Given the description of an element on the screen output the (x, y) to click on. 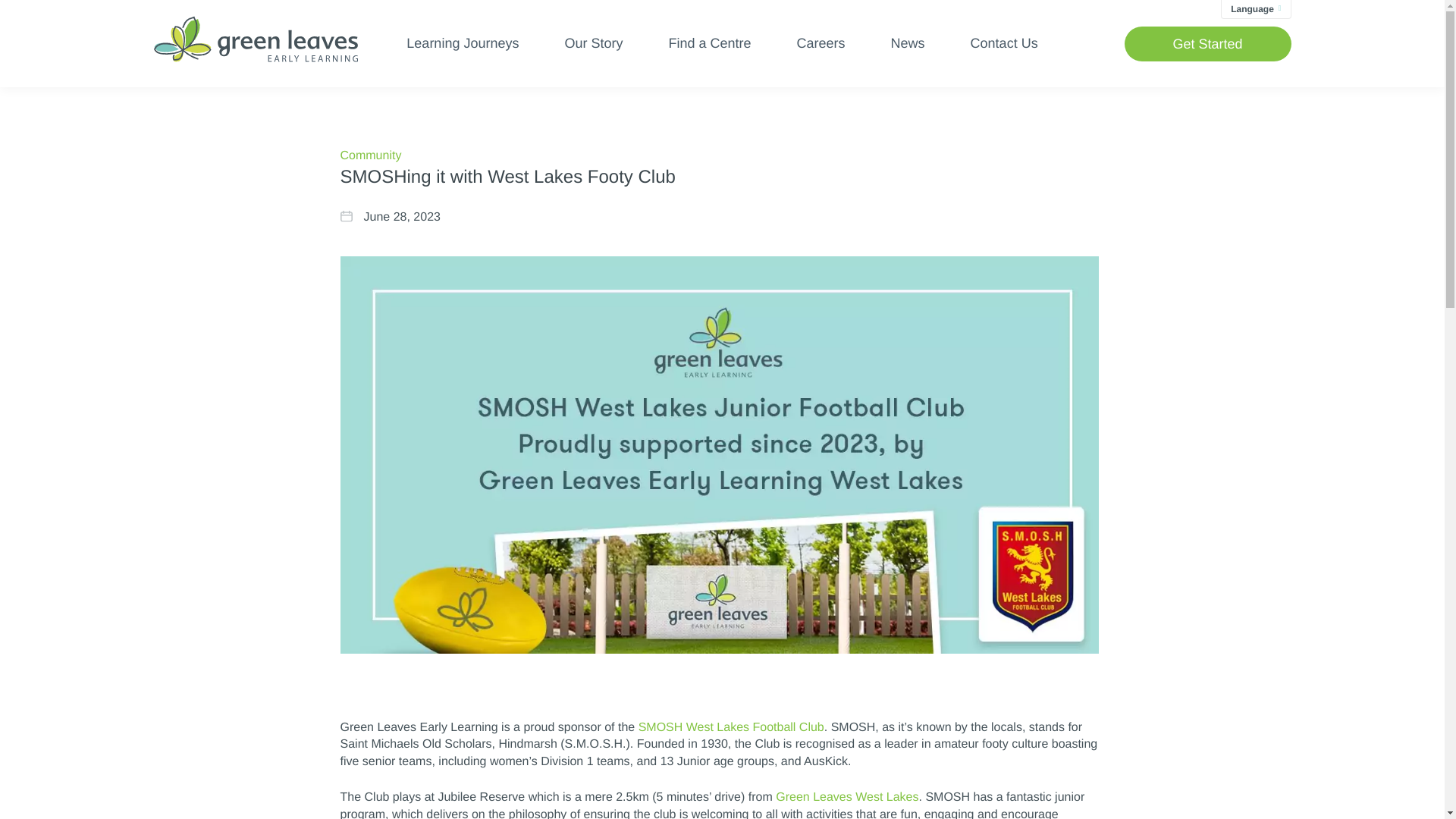
Skip to Content (18, 14)
Our Story (593, 43)
Careers (820, 43)
Contact Us (1004, 43)
News (907, 43)
Learning Journeys (462, 43)
Community (370, 155)
Get Started (1207, 42)
Green Leaves West Lakes (847, 797)
Find a Centre (709, 43)
SMOSH West Lakes Football Club (731, 727)
Community (370, 155)
